Given the description of an element on the screen output the (x, y) to click on. 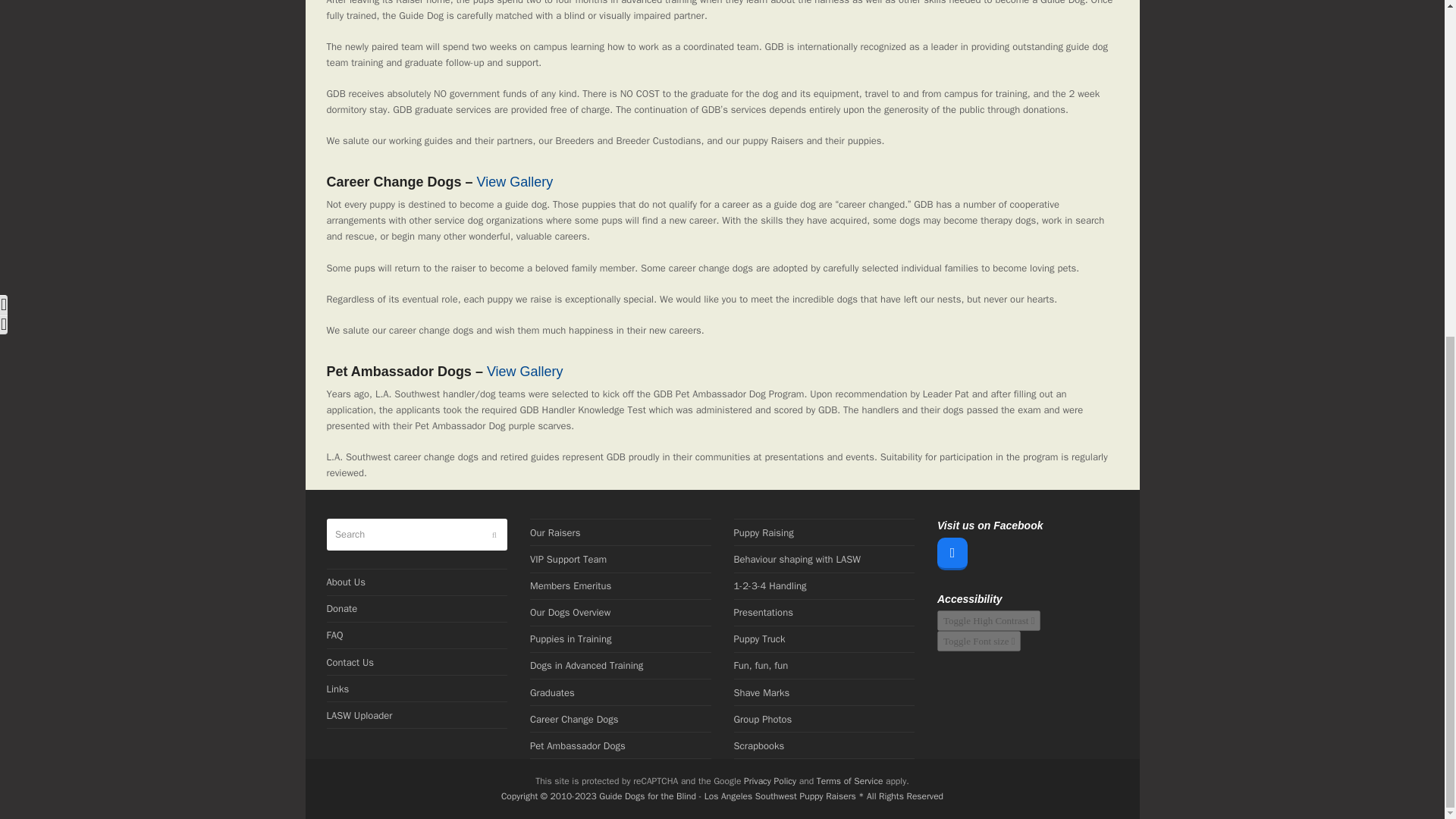
Facebook (952, 553)
